Given the description of an element on the screen output the (x, y) to click on. 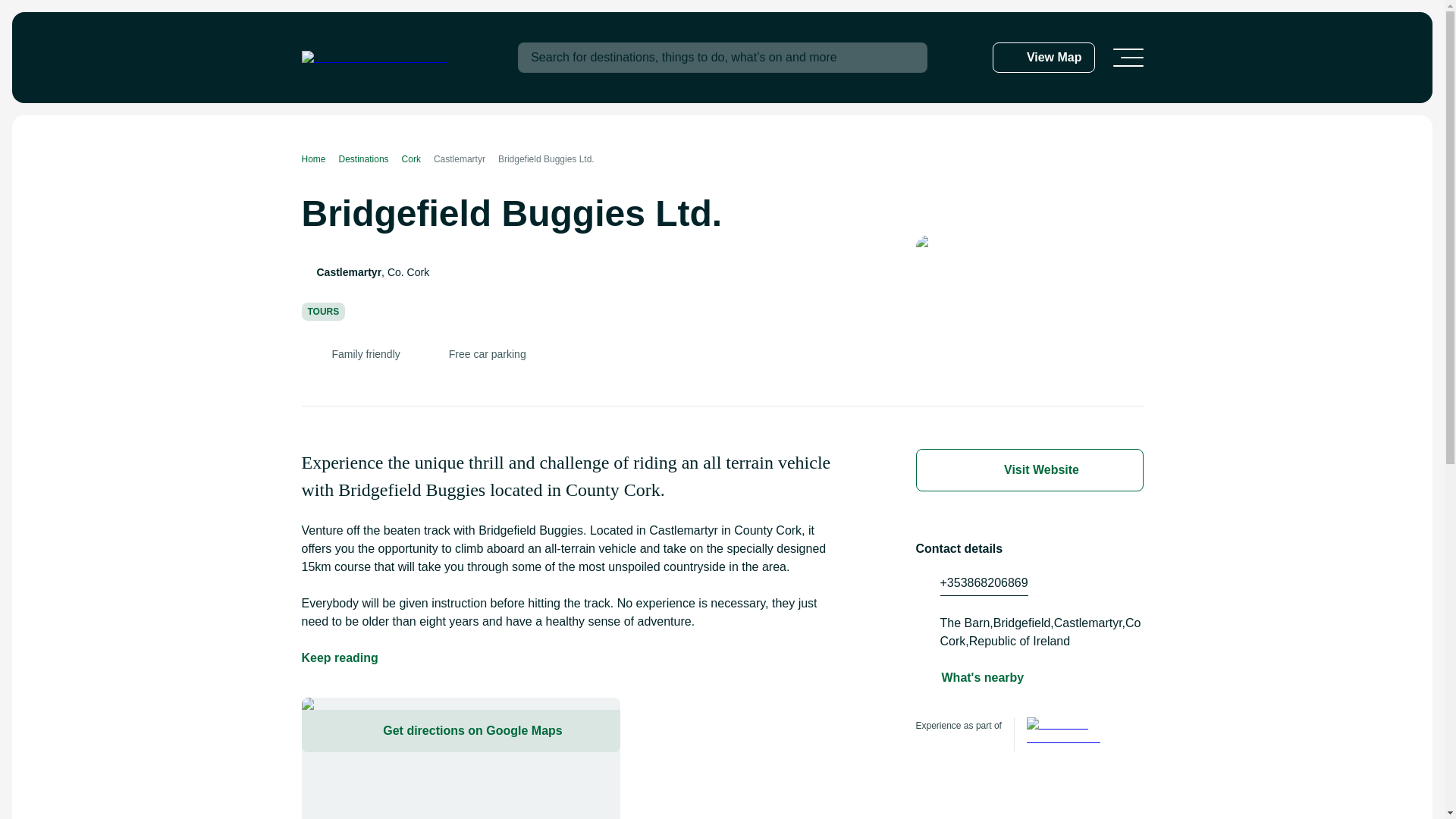
Home (320, 159)
Ireland's Ancient East (1070, 734)
TOURS (323, 311)
Cork (417, 159)
Keep reading (339, 658)
Get directions on Google Maps (460, 731)
Get directions on Google Maps (460, 758)
Click to go back to the homepage (374, 57)
Visit Website (1028, 469)
Destinations (370, 159)
